Given the description of an element on the screen output the (x, y) to click on. 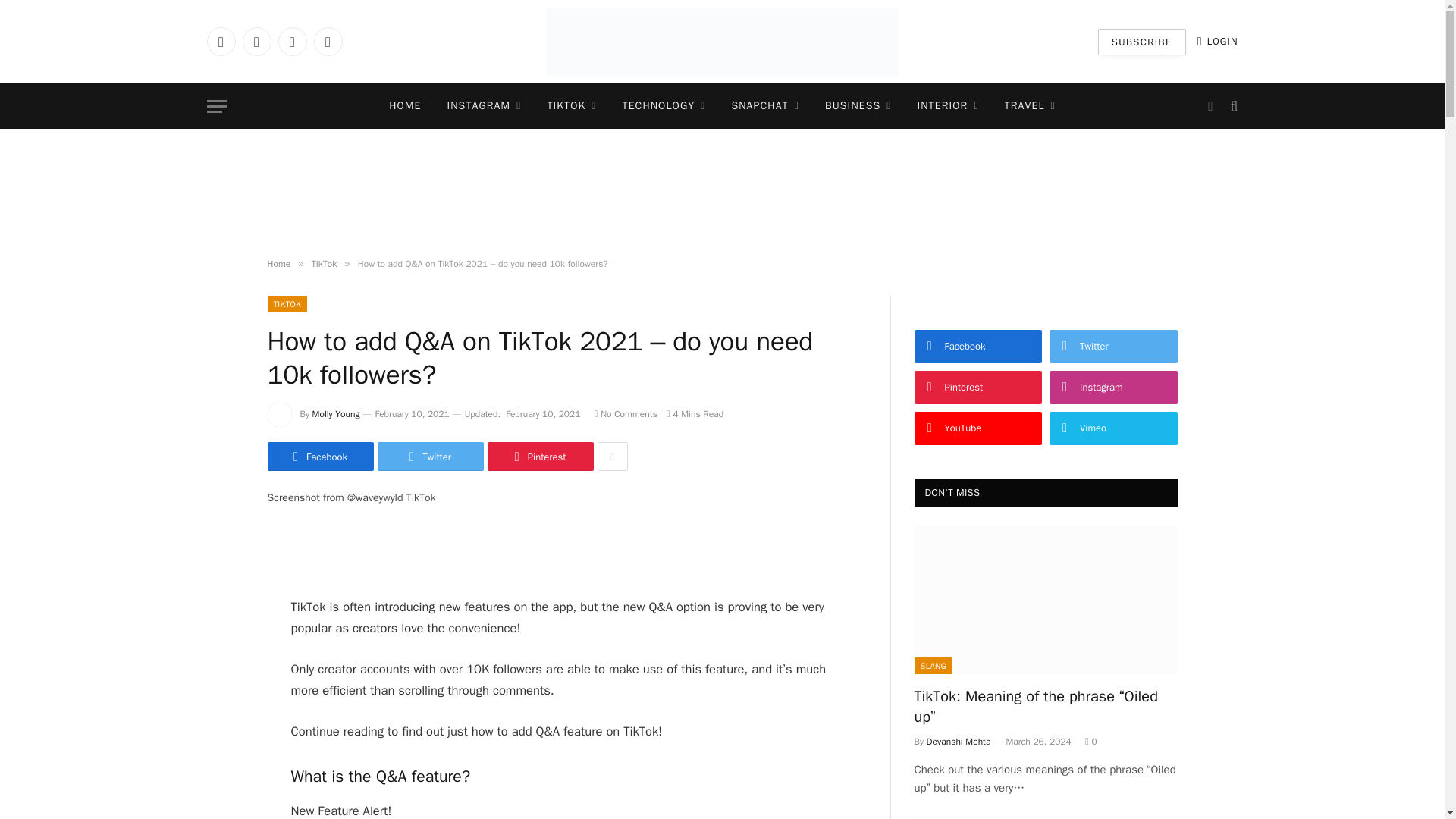
INSTAGRAM (483, 105)
Share on Pinterest (539, 456)
Posts by Molly Young (336, 413)
SNAPCHAT (764, 105)
Facebook (220, 41)
Switch to Dark Design - easier on eyes. (1209, 106)
Share on Facebook (319, 456)
Hashtag Hyena (722, 41)
TIKTOK (571, 105)
Instagram (291, 41)
Vimeo (328, 41)
LOGIN (1217, 41)
Search (1232, 106)
BUSINESS (858, 105)
